Given the description of an element on the screen output the (x, y) to click on. 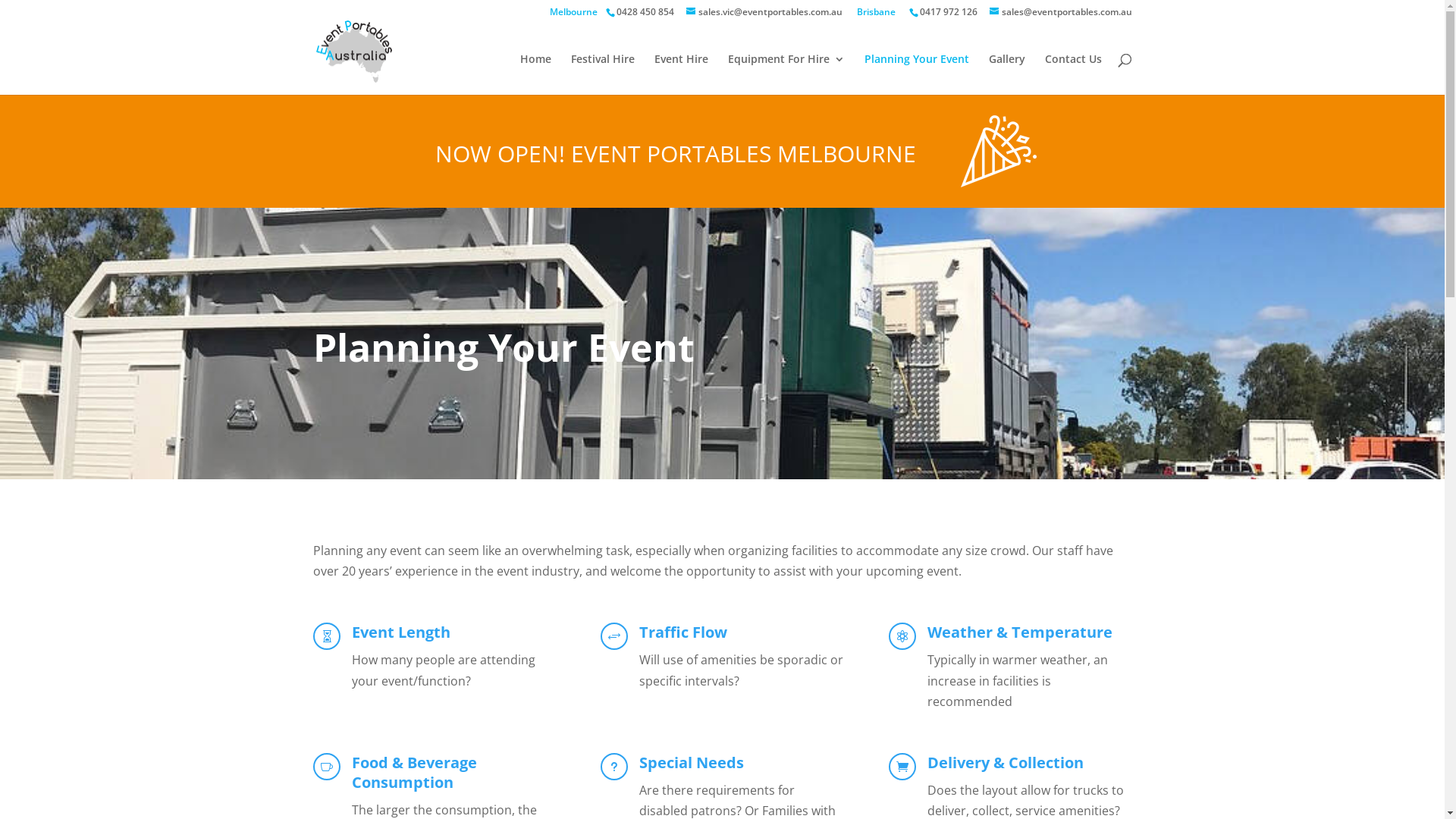
Equipment For Hire Element type: text (786, 73)
sales@eventportables.com.au Element type: text (1059, 11)
0417 972 126 Element type: text (948, 11)
NOW OPEN! EVENT PORTABLES MELBOURNE Element type: text (613, 156)
Planning Your Event Element type: text (916, 73)
Contact Us Element type: text (1072, 73)
0428 450 854 Element type: text (644, 11)
Home Element type: text (535, 73)
Festival Hire Element type: text (601, 73)
Gallery Element type: text (1006, 73)
Event Hire Element type: text (680, 73)
sales.vic@eventportables.com.au Element type: text (763, 11)
